Given the description of an element on the screen output the (x, y) to click on. 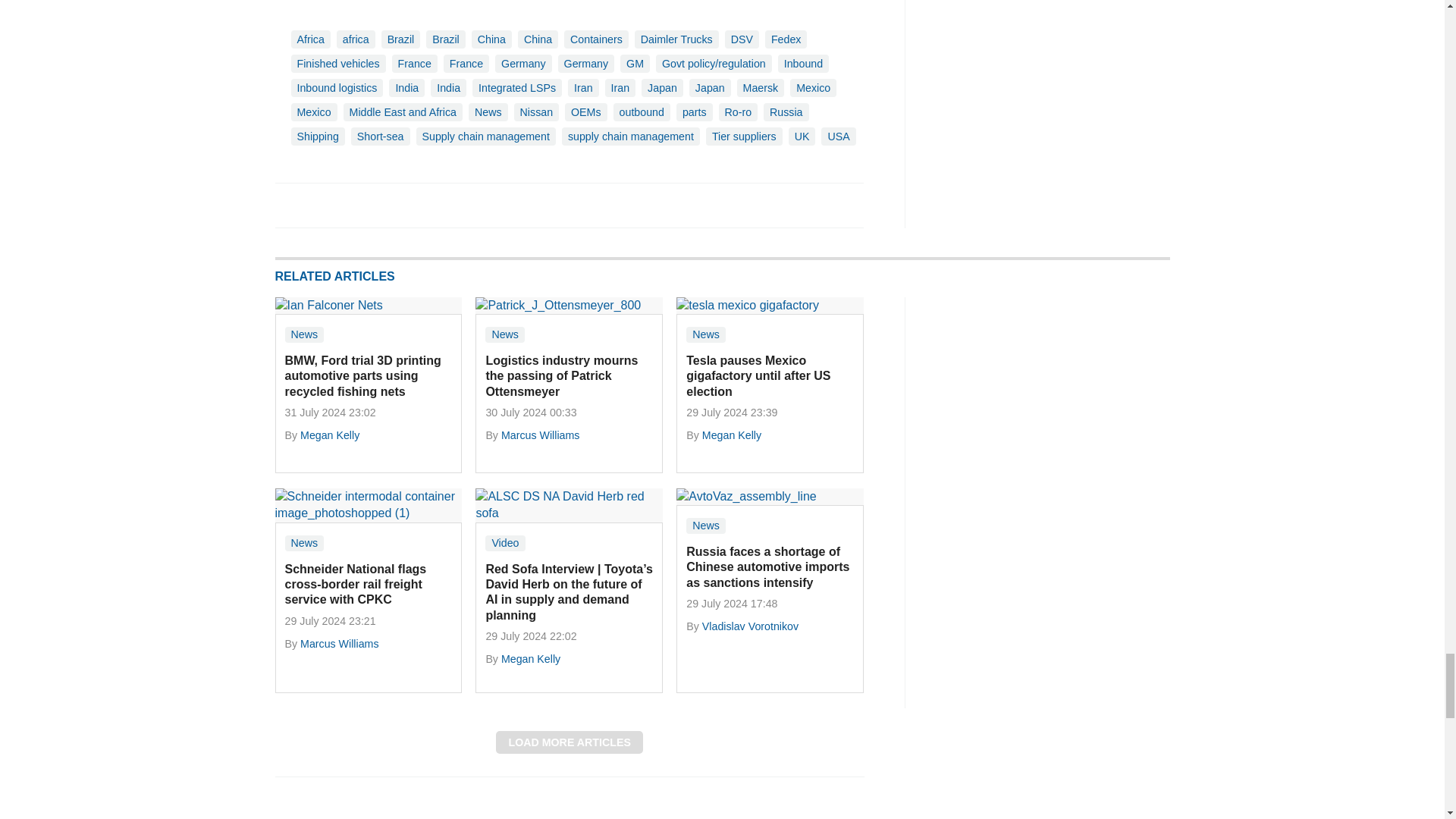
Share this on Linked in (352, 204)
Email this article (386, 204)
Share this on Twitter (320, 204)
Share this on Facebook (288, 204)
